Given the description of an element on the screen output the (x, y) to click on. 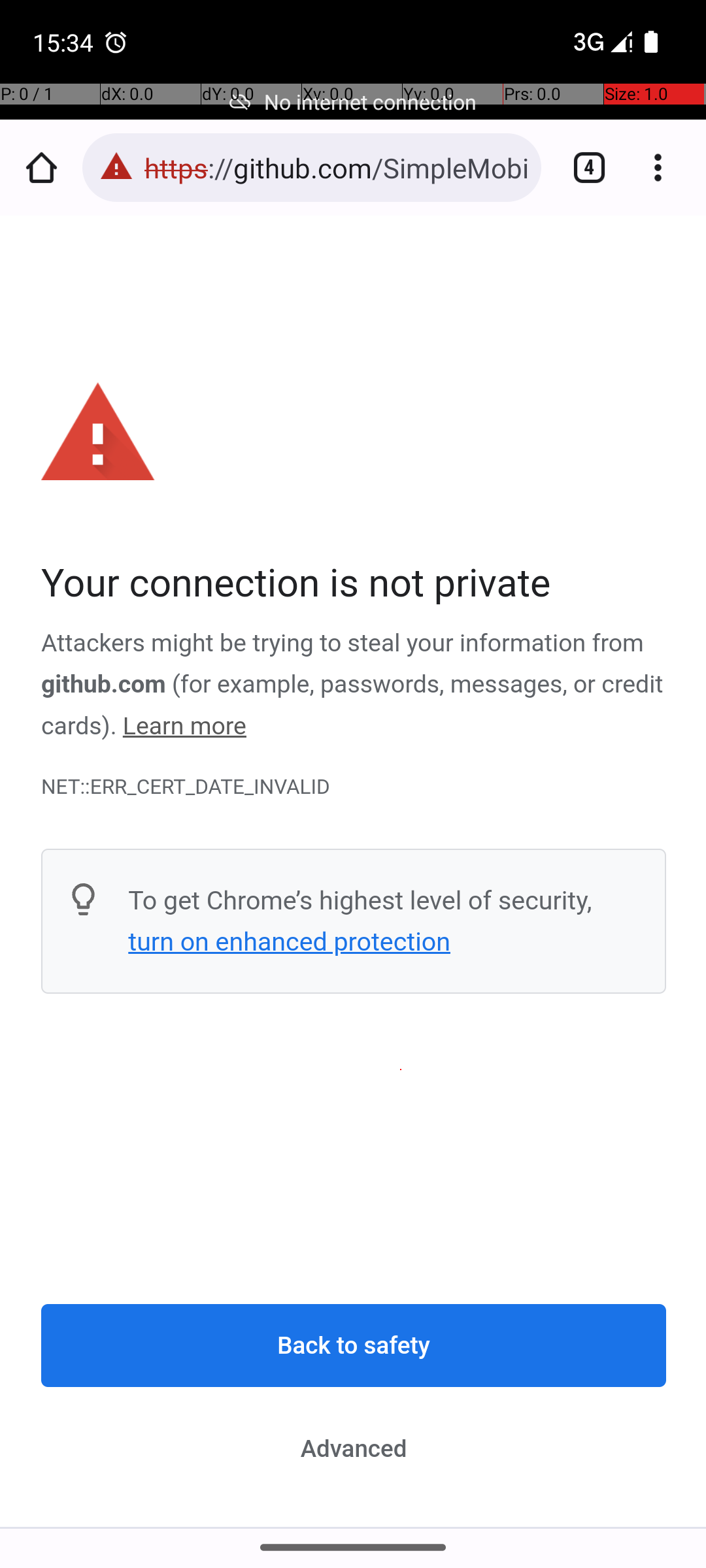
https://github.com/SimpleMobileTools Element type: android.widget.EditText (335, 167)
